Given the description of an element on the screen output the (x, y) to click on. 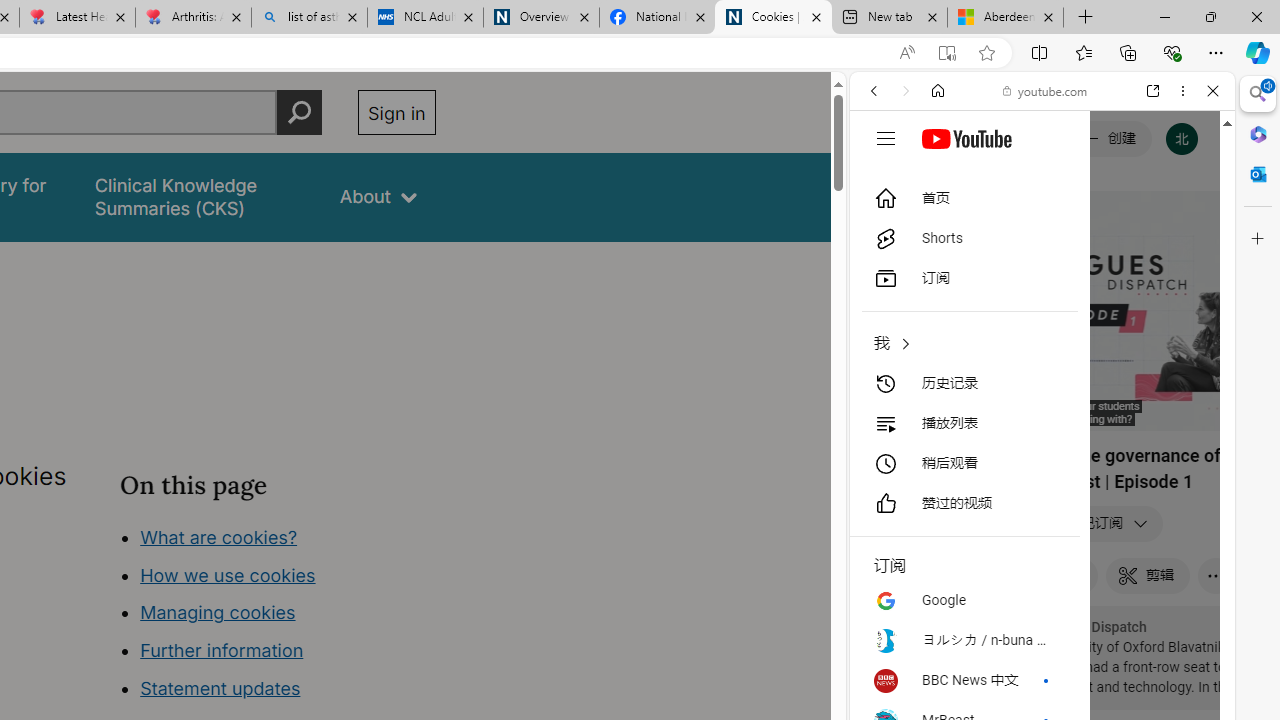
Arthritis: Ask Health Professionals (192, 17)
Google (952, 515)
WEB   (882, 228)
About (378, 196)
Trailer #2 [HD] (1042, 592)
AutomationID: button (886, 138)
Further information (221, 650)
